Given the description of an element on the screen output the (x, y) to click on. 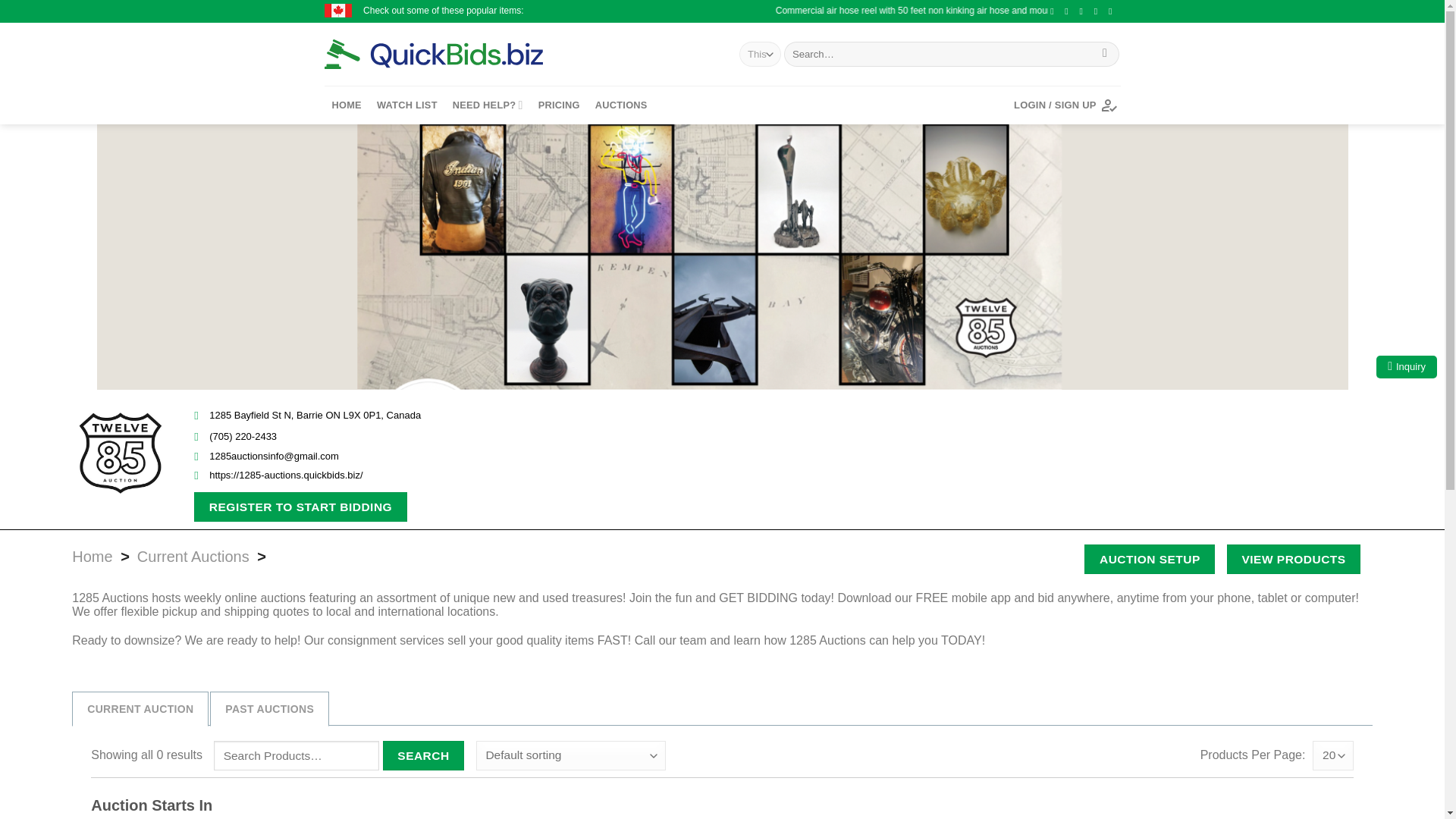
Send us an email (1098, 10)
AUCTIONS (621, 104)
1285 Bayfield St N, Barrie ON L9X 0P1, Canada (398, 414)
NEED HELP? (487, 104)
Follow on Facebook (1054, 10)
HOME (346, 104)
Search (1105, 54)
Follow on Instagram (1069, 10)
WATCH LIST (407, 104)
Follow on X (1084, 10)
Search (423, 755)
PRICING (558, 104)
Search for: (296, 755)
Quick Bids - Online Auctions (456, 54)
Follow on LinkedIn (1113, 10)
